Given the description of an element on the screen output the (x, y) to click on. 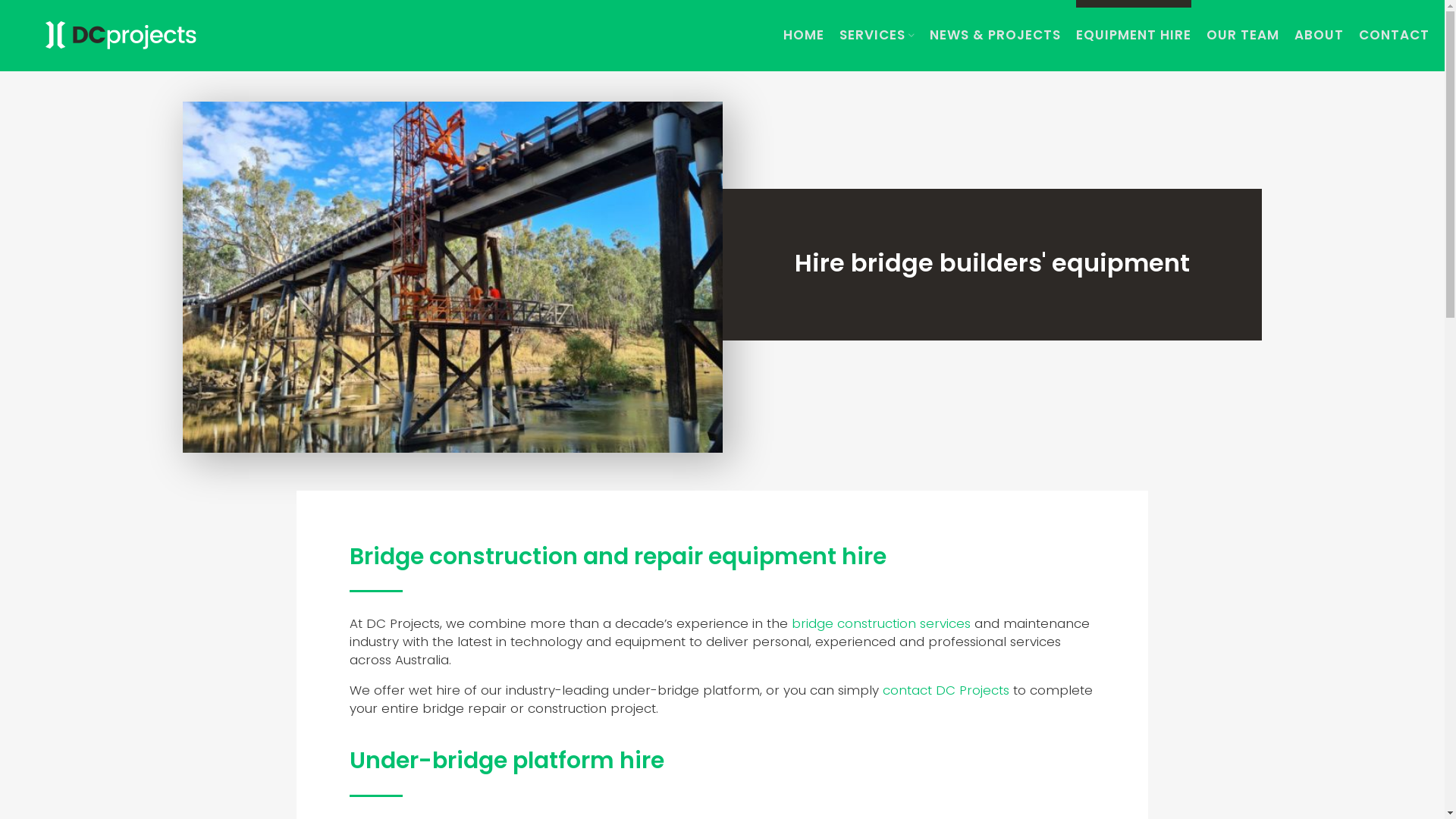
OUR TEAM Element type: text (1242, 35)
bridge construction services Element type: text (880, 623)
ABOUT Element type: text (1318, 35)
SERVICES Element type: text (876, 35)
EQUIPMENT HIRE Element type: text (1133, 35)
NEWS & PROJECTS Element type: text (994, 35)
contact DC Projects Element type: text (945, 689)
HOME Element type: text (803, 35)
CONTACT Element type: text (1393, 35)
DC Projects Pty Ltd Element type: hover (120, 35)
